Given the description of an element on the screen output the (x, y) to click on. 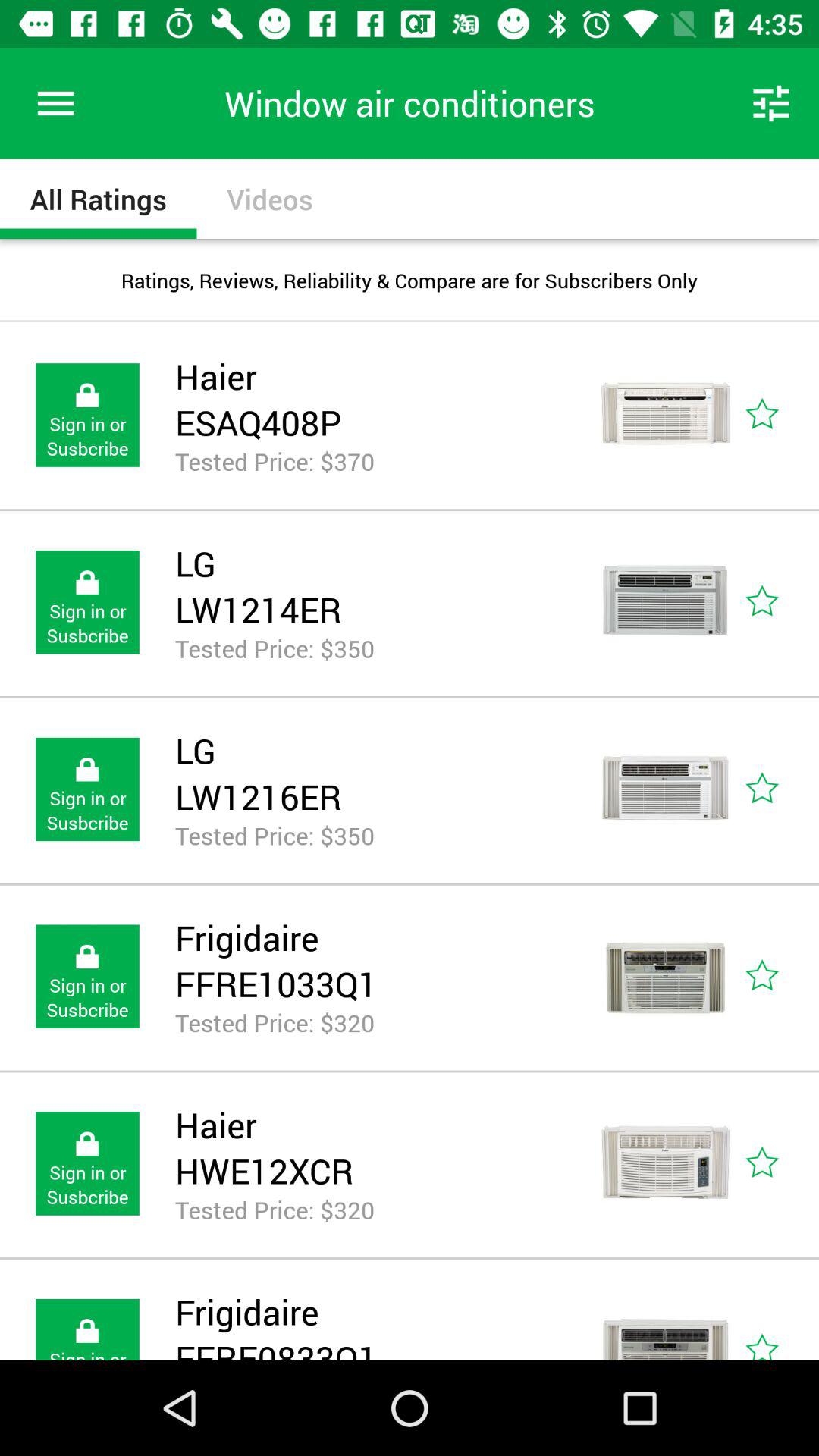
select item next to the window air conditioners icon (55, 103)
